Given the description of an element on the screen output the (x, y) to click on. 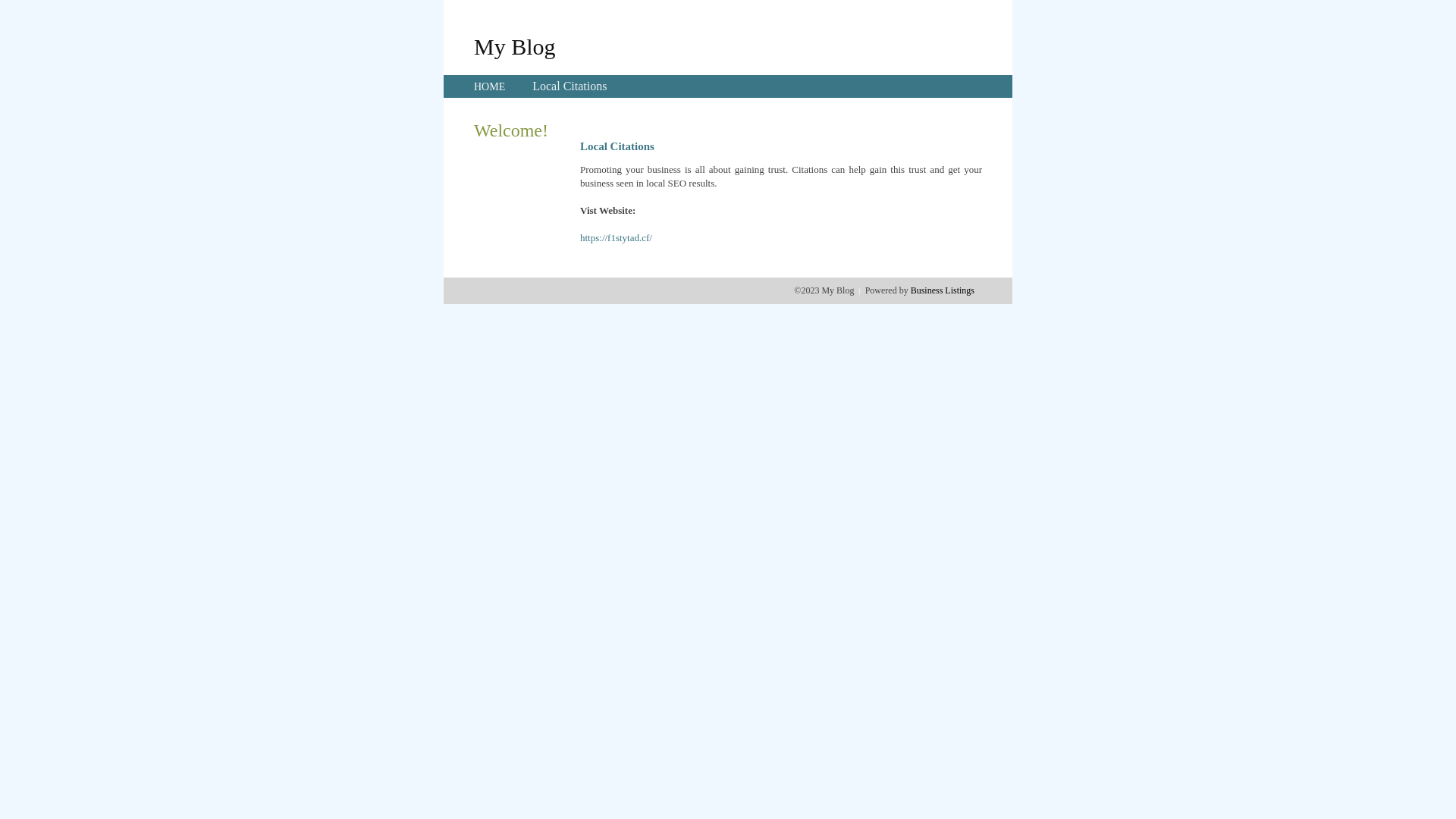
My Blog Element type: text (514, 46)
Business Listings Element type: text (942, 290)
HOME Element type: text (489, 86)
Local Citations Element type: text (569, 85)
https://f1stytad.cf/ Element type: text (616, 237)
